Given the description of an element on the screen output the (x, y) to click on. 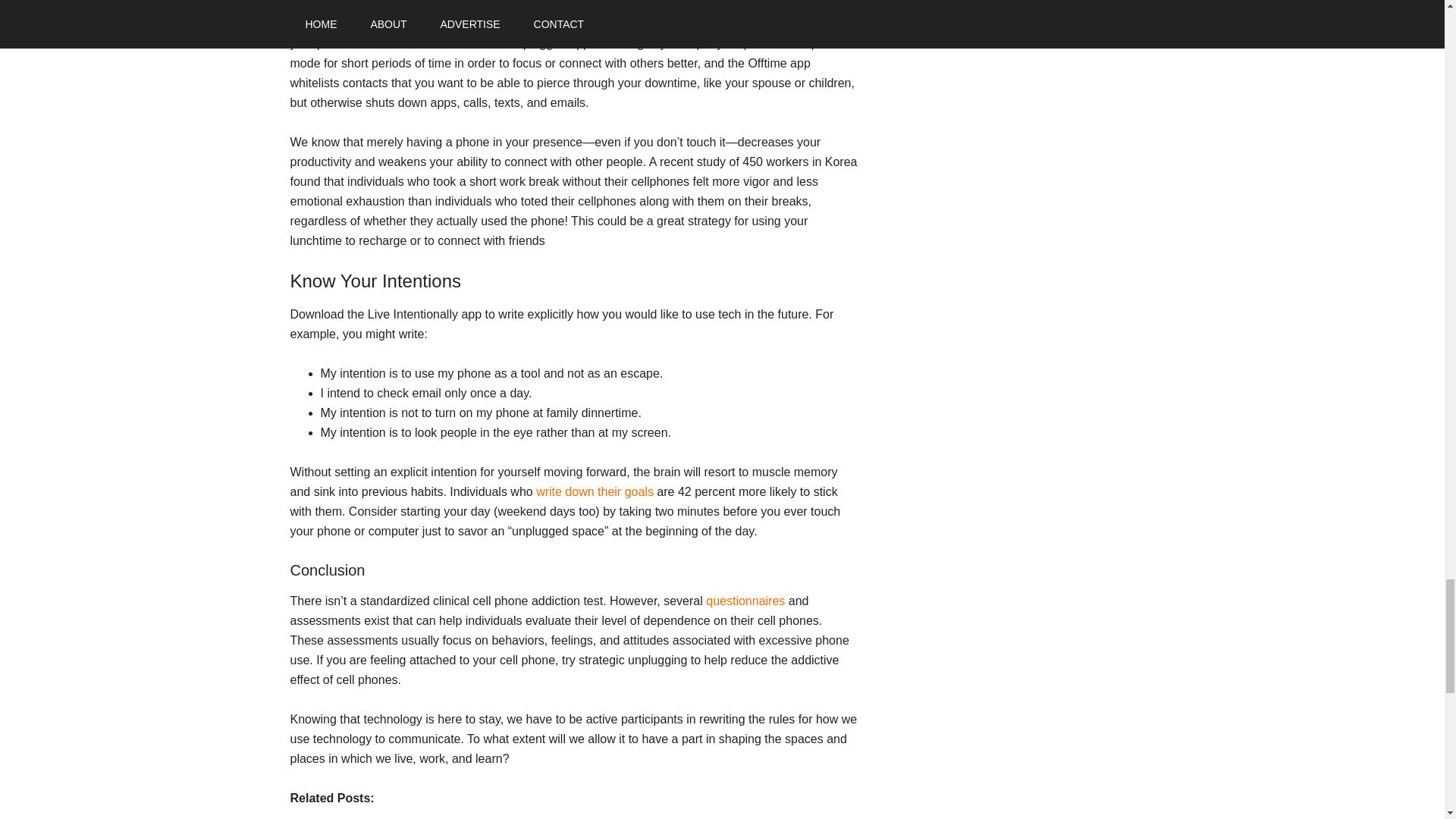
Unplugged app (408, 23)
write down their goals (594, 491)
questionnaires (745, 600)
